Given the description of an element on the screen output the (x, y) to click on. 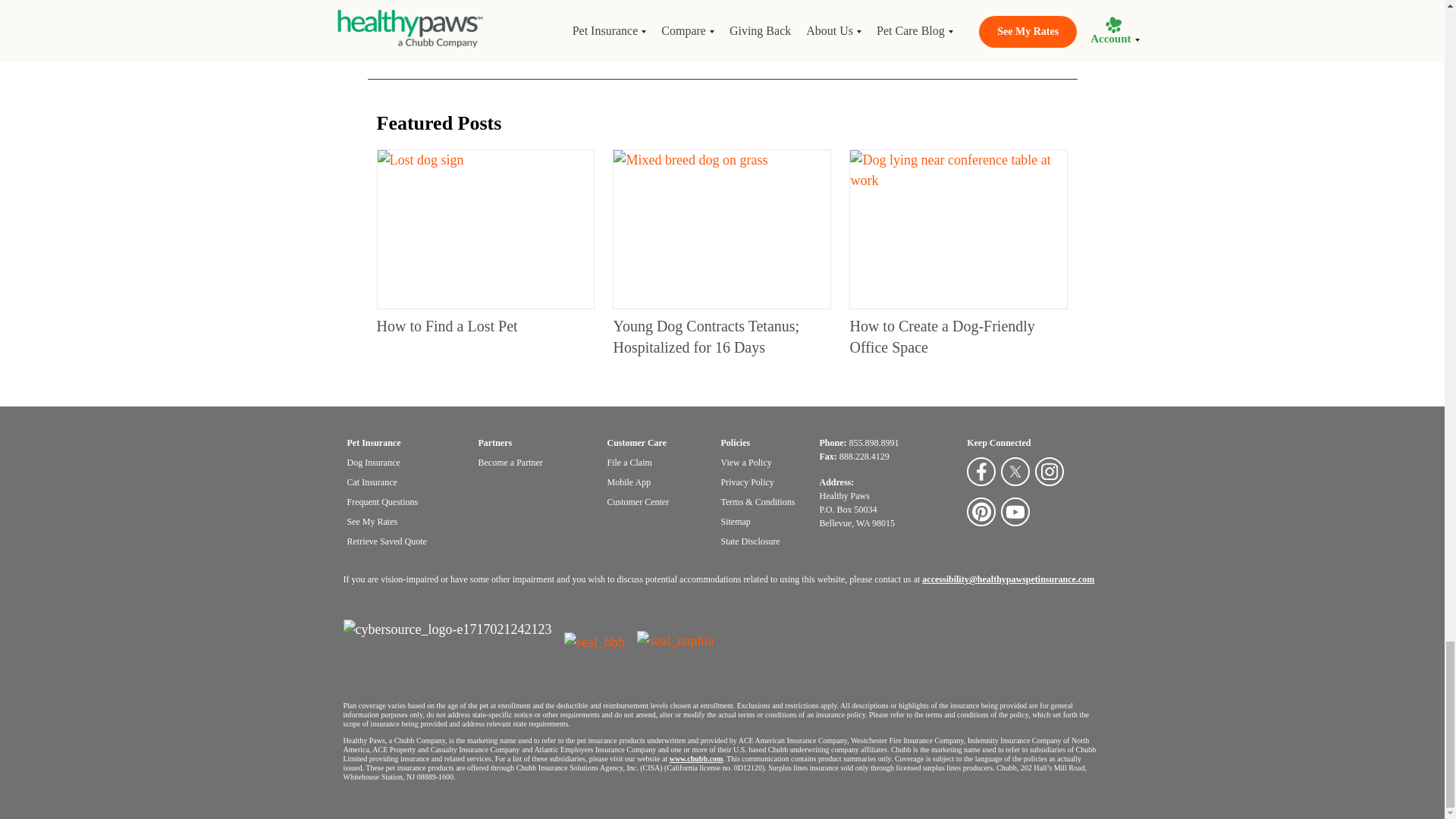
8 Great Dog Cookie Recipes for the Holidays (712, 13)
How to Make Vet-Approved Homemade Dog Food (471, 13)
